Given the description of an element on the screen output the (x, y) to click on. 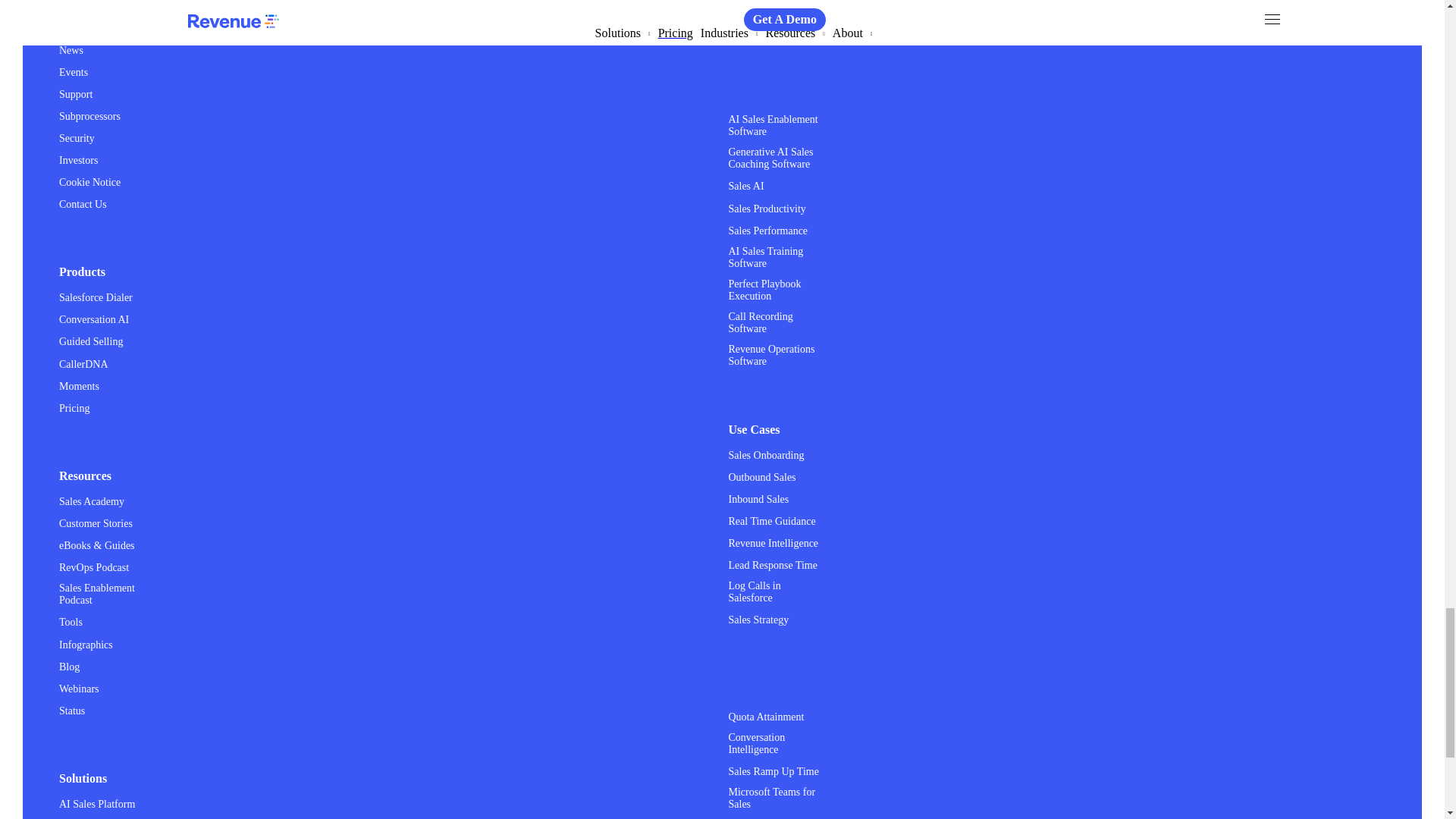
Partnerships (85, 5)
News (70, 49)
Events (73, 71)
Security (76, 137)
Investors (78, 159)
Cookie Notice (89, 181)
Support (76, 92)
Contact Us (82, 203)
Leadership (82, 26)
Subprocessors (89, 115)
